Given the description of an element on the screen output the (x, y) to click on. 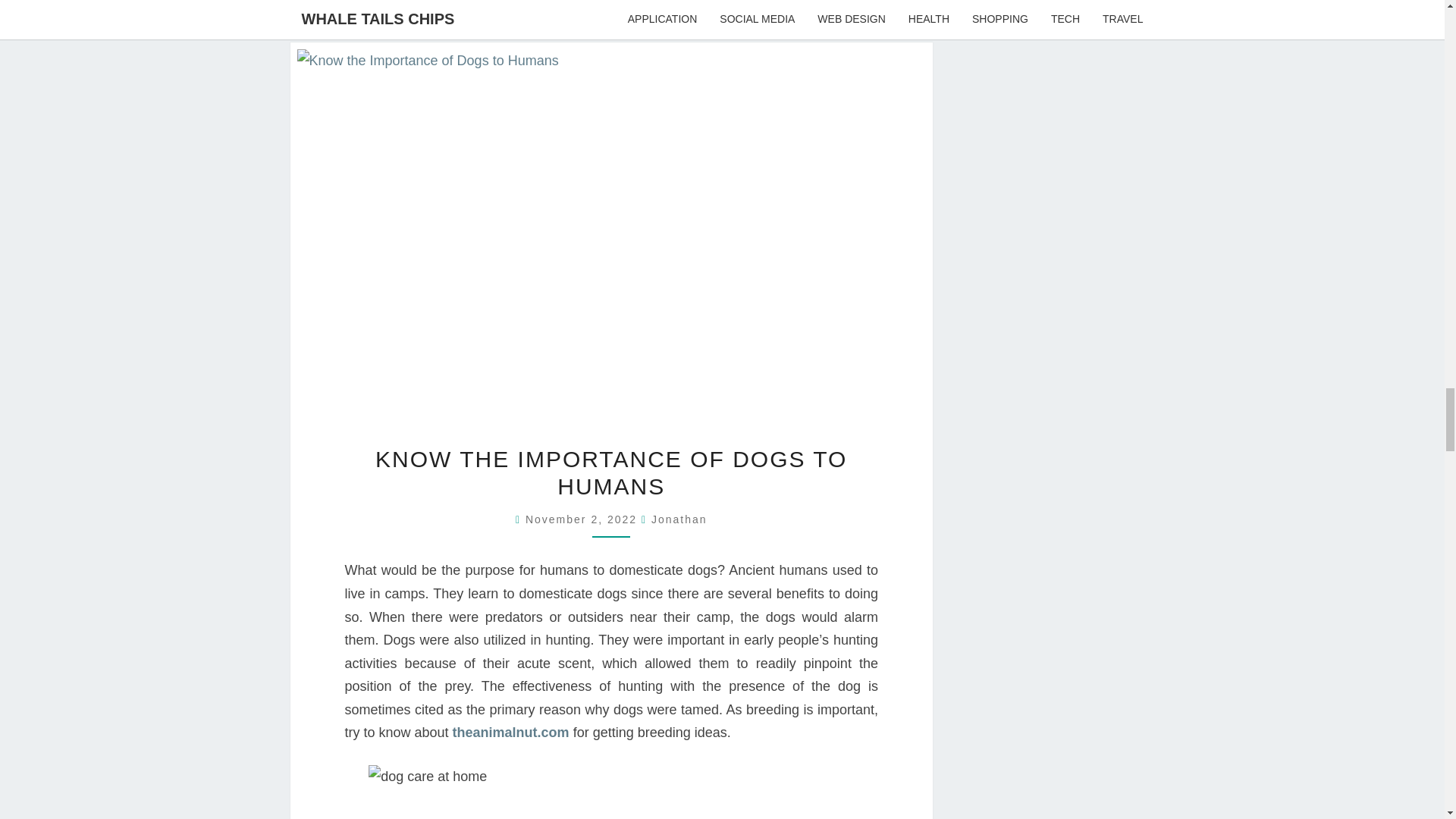
Jonathan (678, 519)
KNOW THE IMPORTANCE OF DOGS TO HUMANS (611, 472)
View all posts by Jonathan (678, 519)
November 2, 2022 (583, 519)
theanimalnut.com (510, 732)
12:18 pm (583, 519)
